Given the description of an element on the screen output the (x, y) to click on. 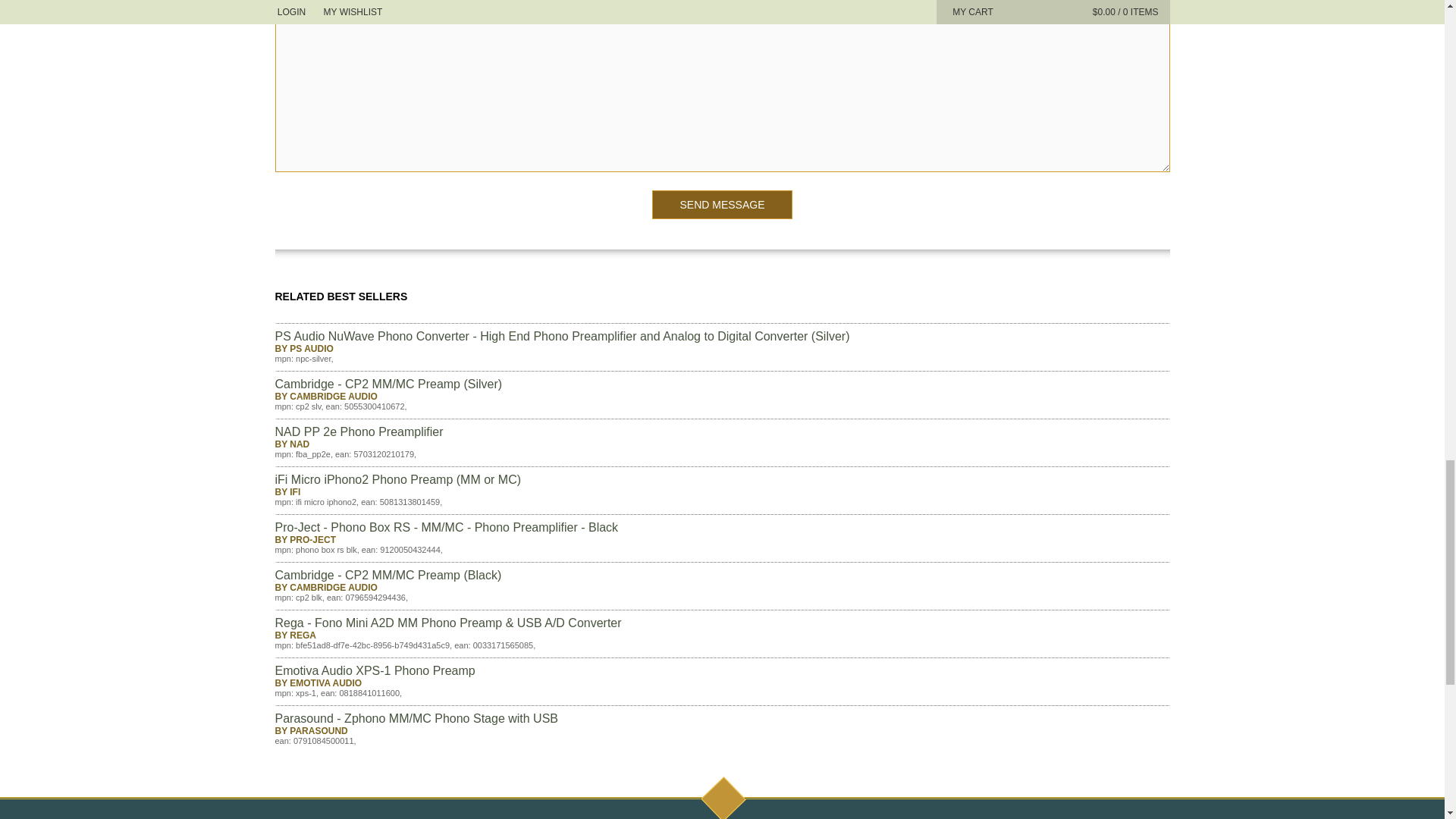
NAD PP 2e Phono Preamplifier (358, 431)
Emotiva Audio XPS-1 Phono Preamp (374, 670)
SEND MESSAGE (722, 204)
